Given the description of an element on the screen output the (x, y) to click on. 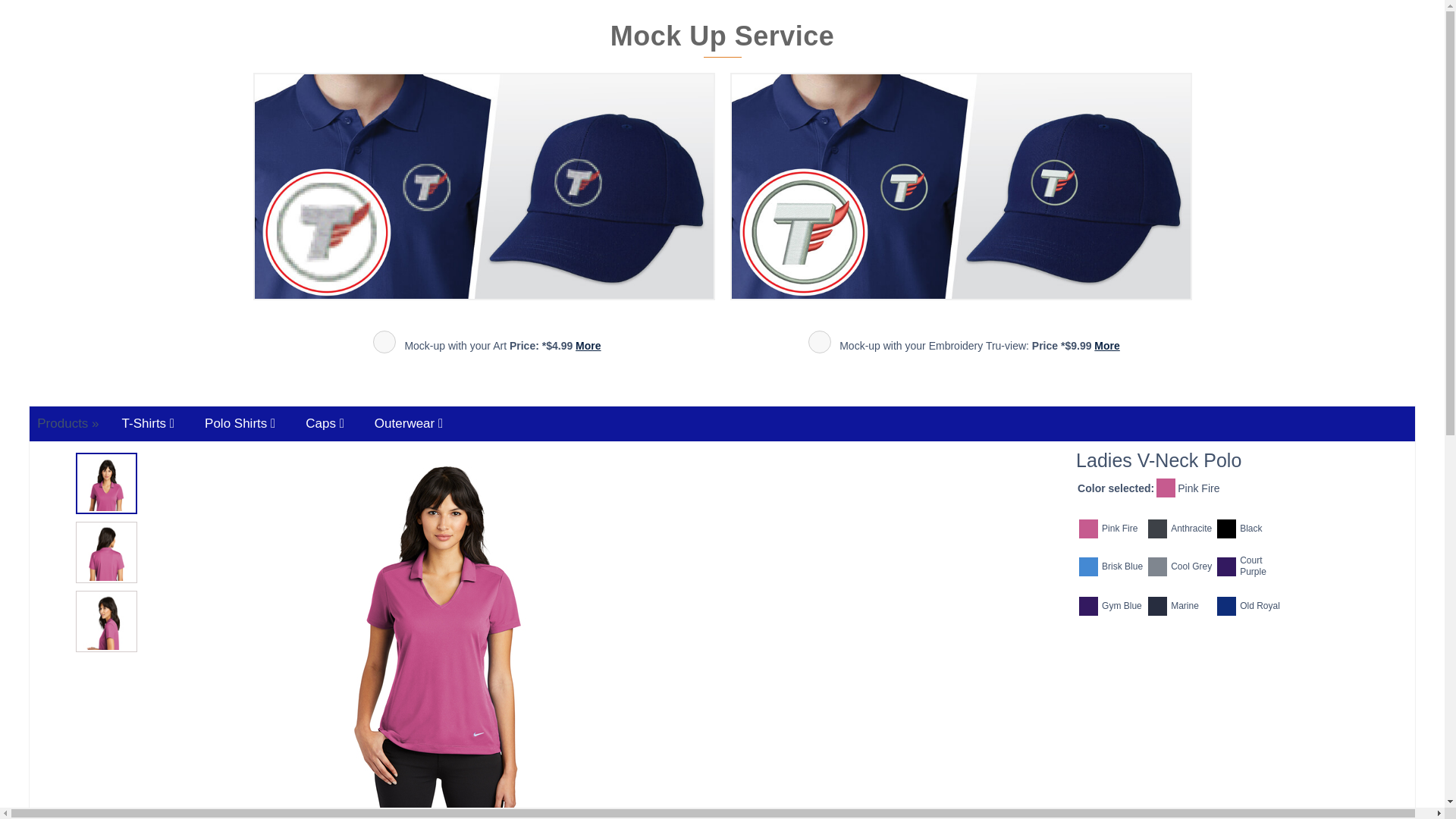
1 (384, 341)
2 (819, 341)
